Given the description of an element on the screen output the (x, y) to click on. 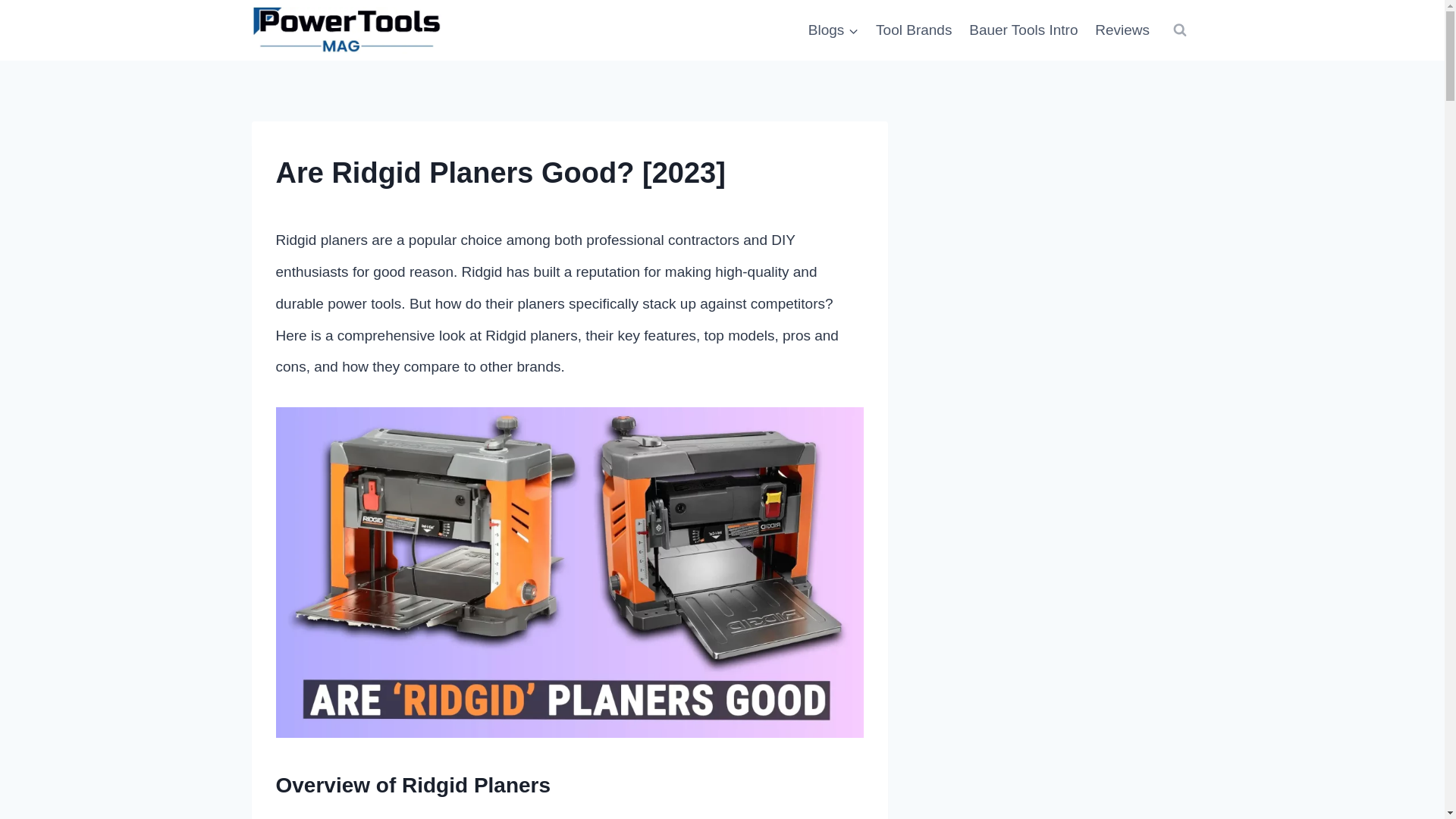
Bauer Tools Intro (1023, 30)
Blogs (832, 30)
Reviews (1122, 30)
Tool Brands (913, 30)
